Given the description of an element on the screen output the (x, y) to click on. 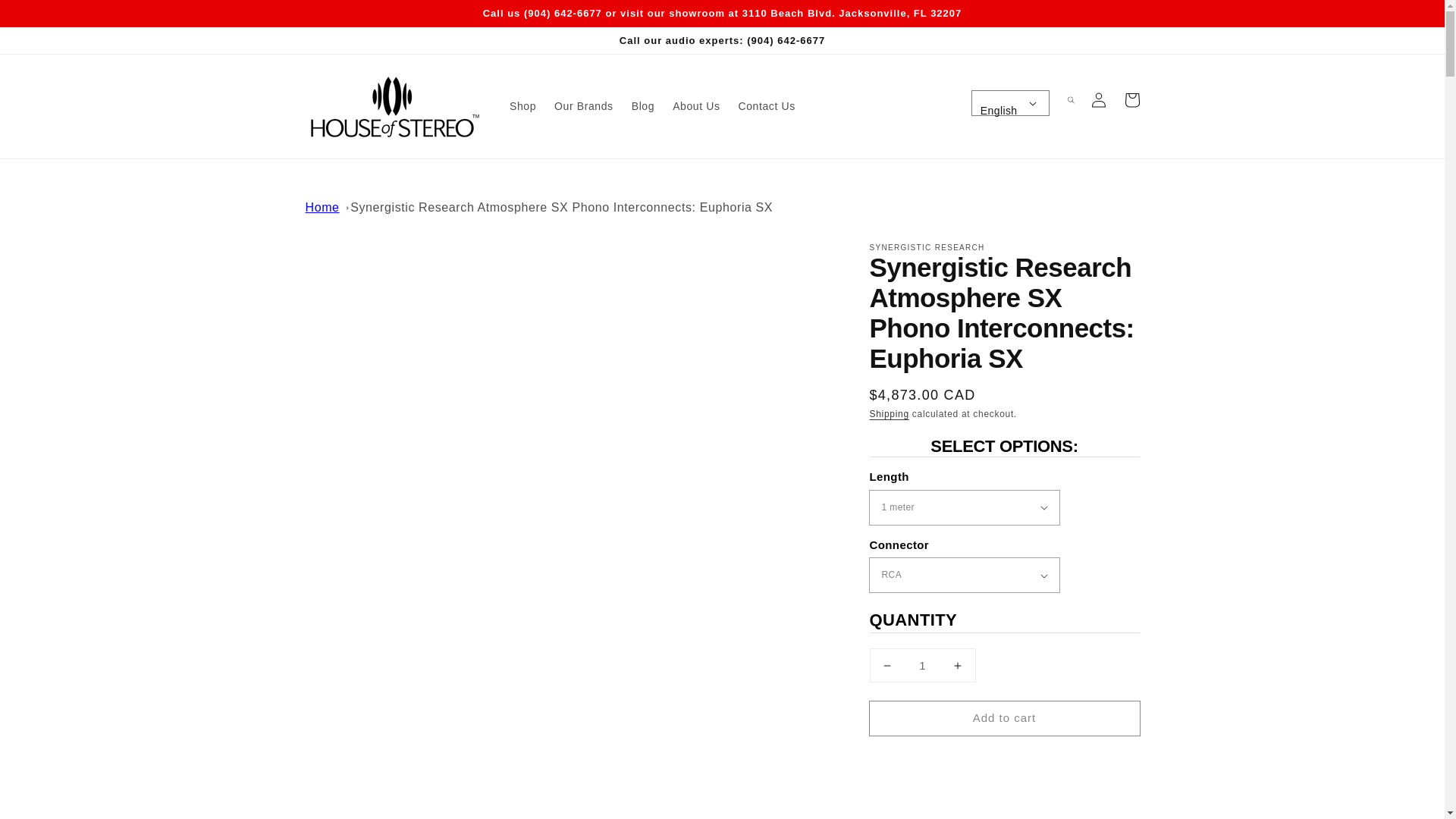
Home (321, 206)
Add to cart (1003, 718)
Shop (522, 106)
Skip to content (45, 16)
Contact Us (767, 106)
Cart (1131, 100)
1 (922, 665)
